Given the description of an element on the screen output the (x, y) to click on. 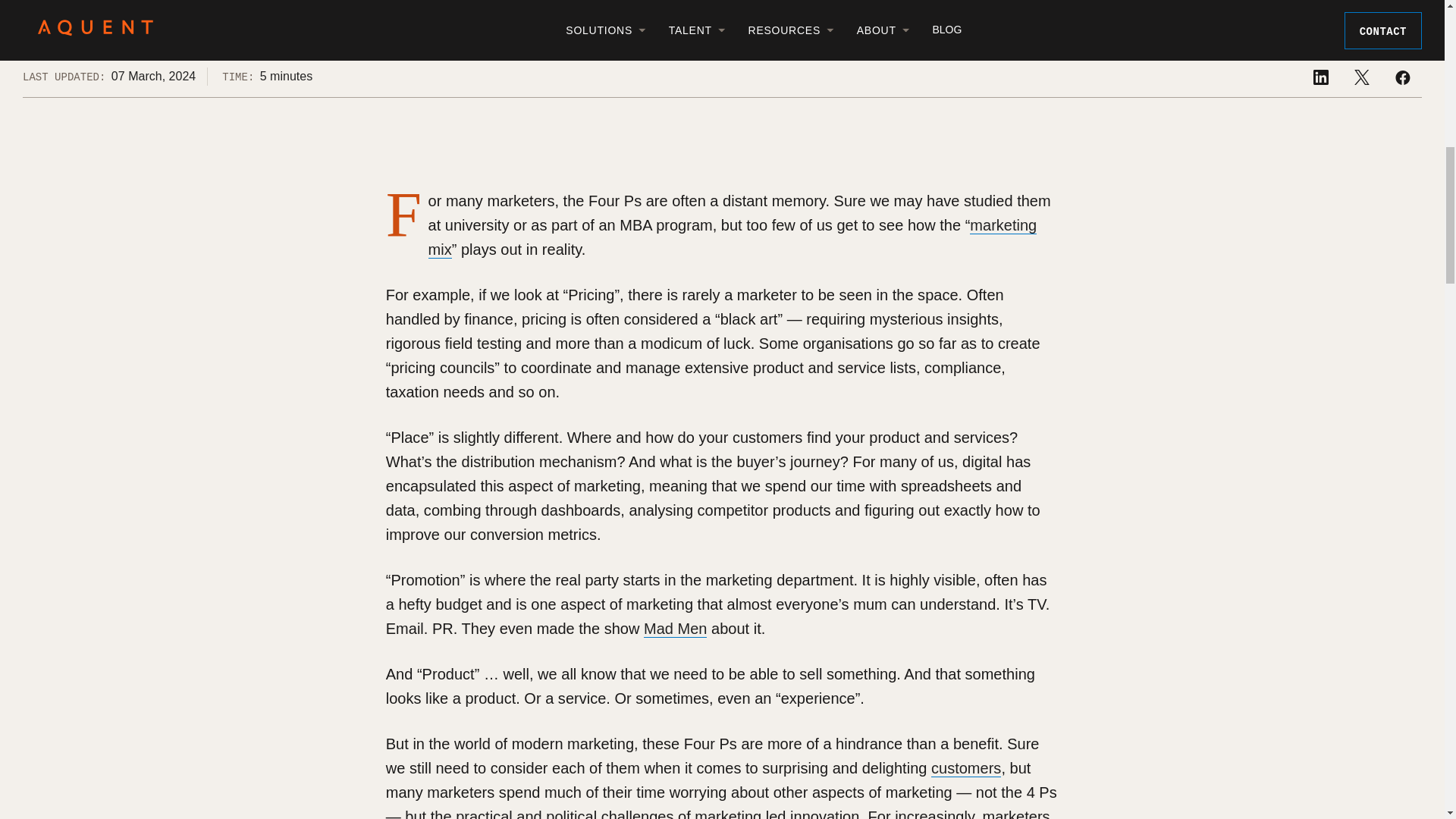
Mad Men (674, 628)
marketing mix (732, 237)
customers (966, 768)
